Given the description of an element on the screen output the (x, y) to click on. 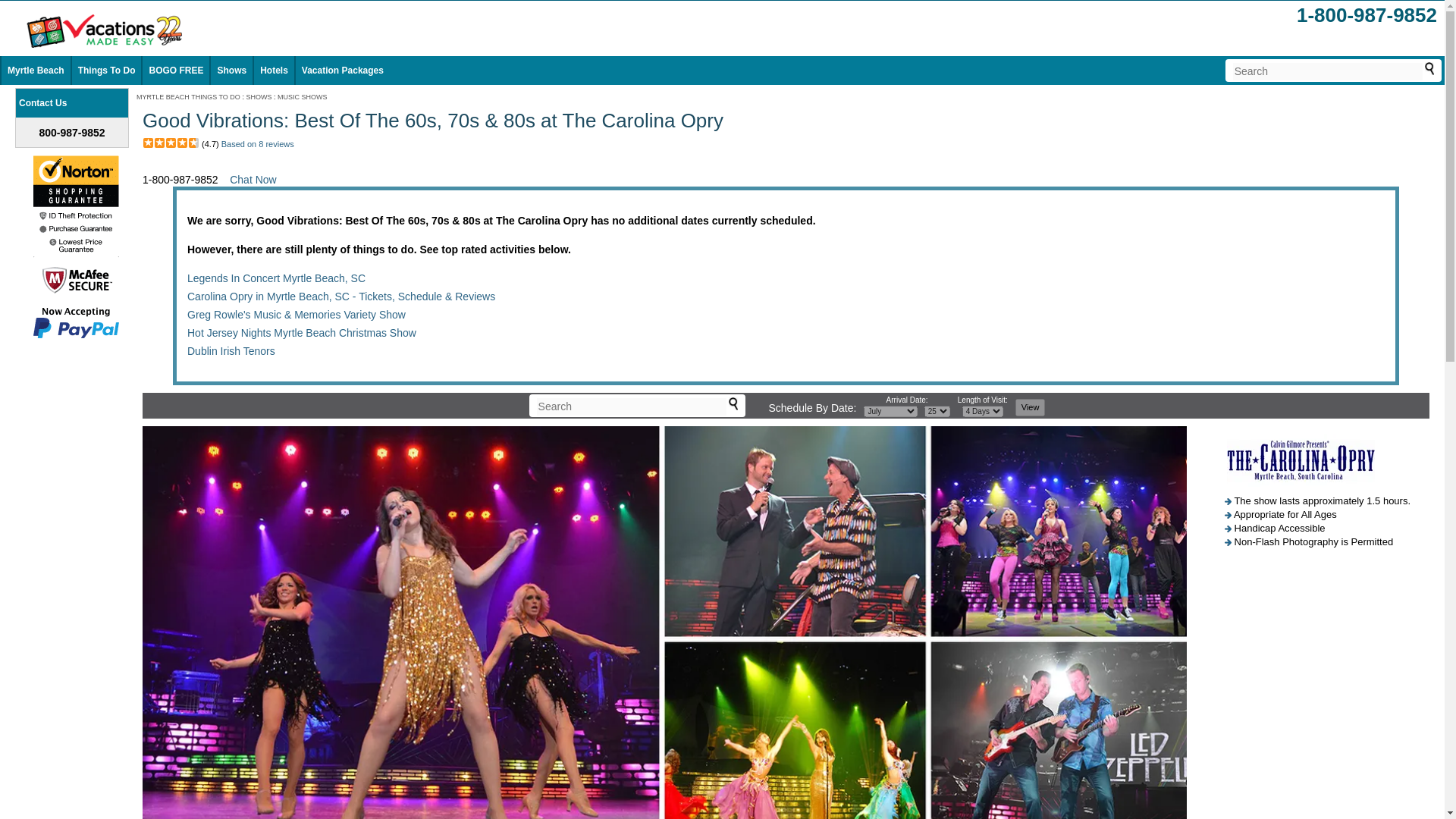
View (1029, 407)
BOGO FREE (175, 70)
Shows (231, 70)
MYRTLE BEACH THINGS TO DO (188, 96)
Dublin Irish Tenors (231, 350)
Myrtle Beach (35, 70)
Hot Jersey Nights Myrtle Beach Christmas Show (301, 332)
View (1029, 407)
Things To Do (106, 70)
Hotels (274, 70)
Chat Now (253, 179)
MUSIC SHOWS (302, 96)
Based on 8 reviews (257, 143)
Vacation Packages (342, 70)
SHOWS (258, 96)
